Given the description of an element on the screen output the (x, y) to click on. 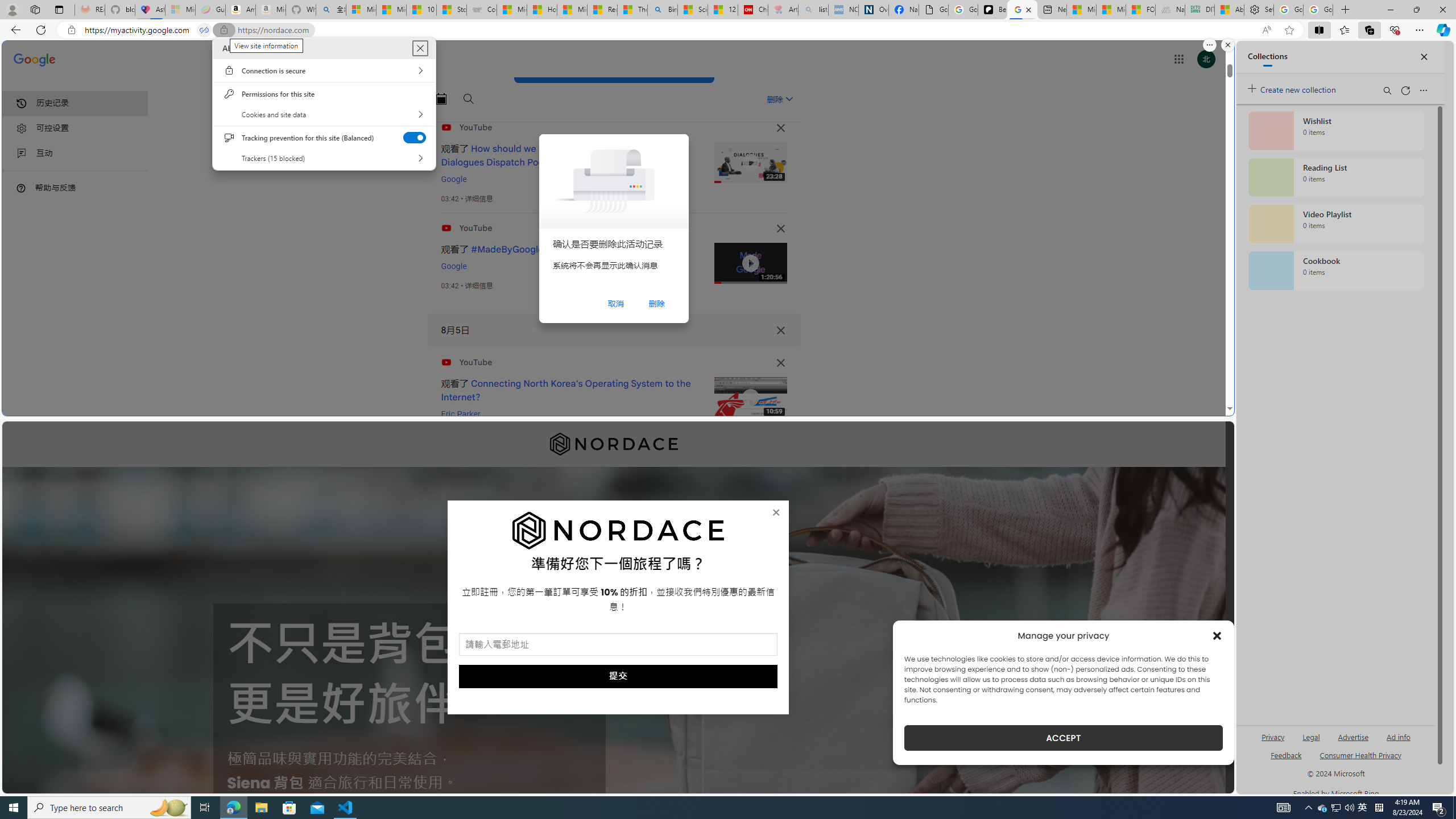
Class: asE2Ub NMm5M (788, 99)
12 Popular Science Lies that Must be Corrected (722, 9)
Q2790: 100% (1349, 807)
